Given the description of an element on the screen output the (x, y) to click on. 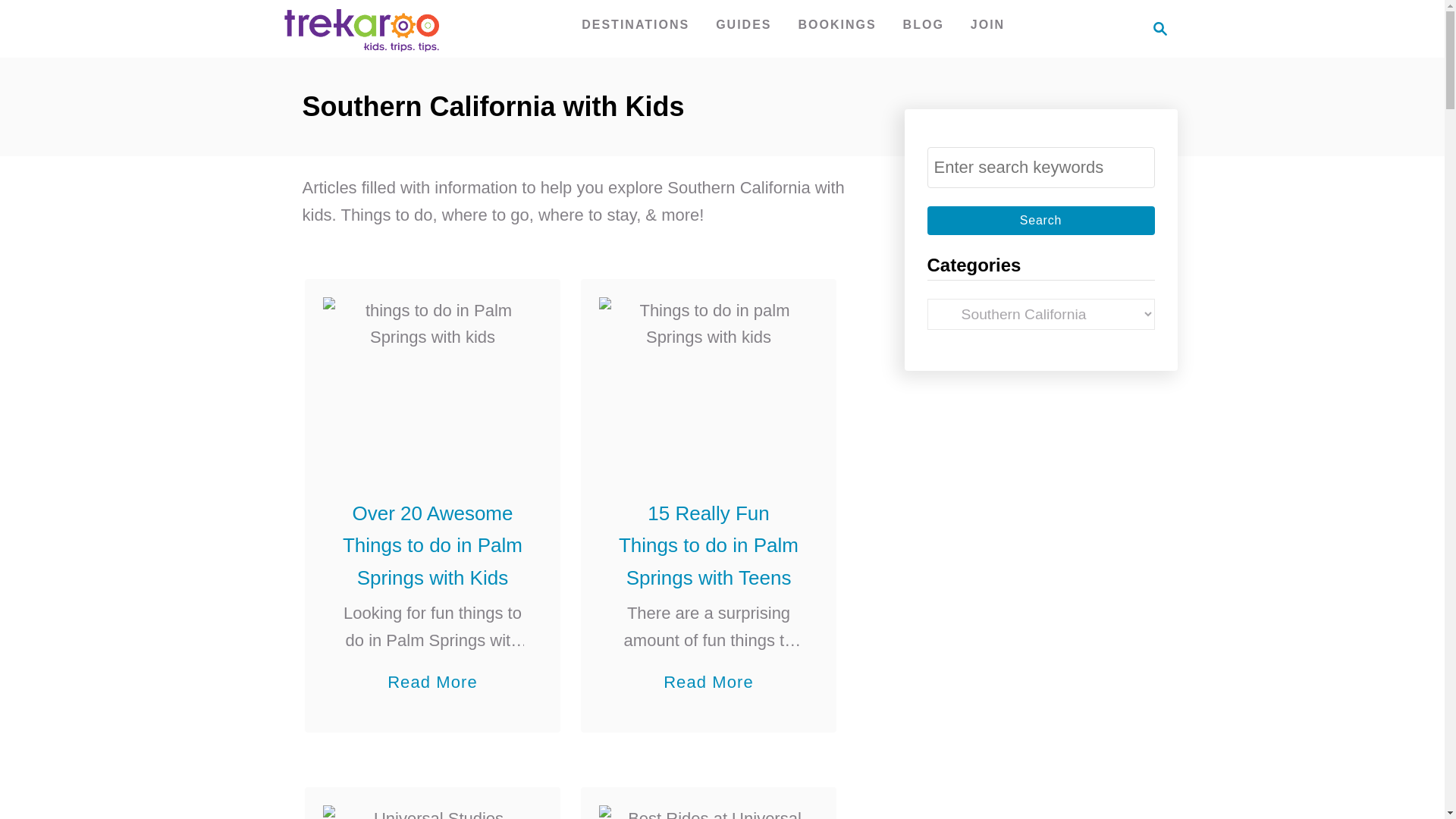
travel stories and articles (923, 24)
Search (1040, 220)
JOIN (986, 24)
Magnifying Glass (1160, 28)
Trekaroo Family Travel Blog (360, 28)
Over 20 Awesome Things to do in Palm Springs with Kids (432, 379)
15 Really Fun Things to do in Palm Springs with Teens (708, 379)
BLOG (923, 24)
find and create guides for your family trip (742, 24)
family vacation destinations (635, 24)
BOOKINGS (836, 24)
15 Really Fun Things to do in Palm Springs with Teens (707, 545)
Search (1040, 220)
